Given the description of an element on the screen output the (x, y) to click on. 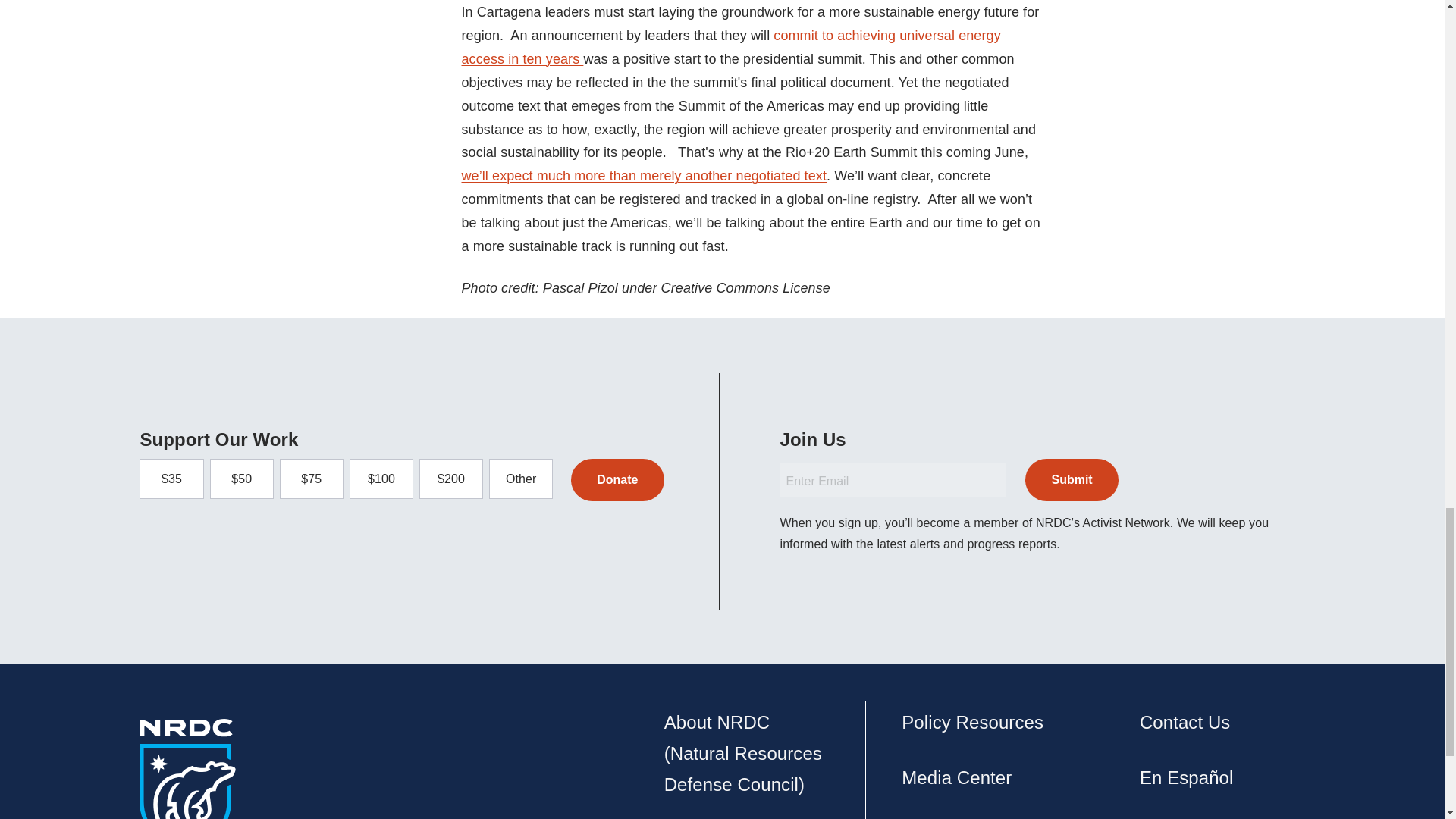
NRDC Logo (187, 769)
